Given the description of an element on the screen output the (x, y) to click on. 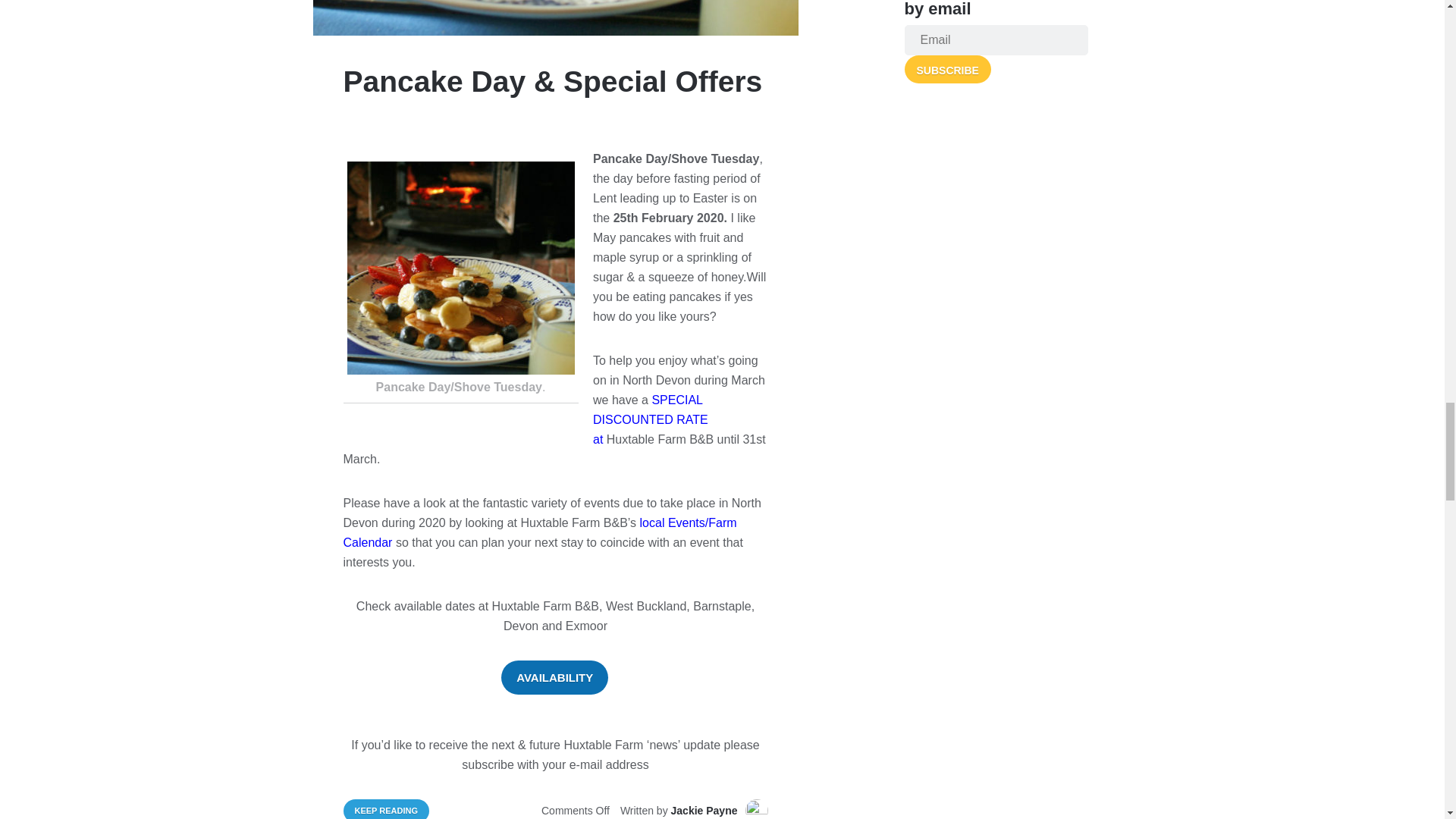
Subscribe (947, 68)
View all posts by Jackie Payne (704, 810)
